Given the description of an element on the screen output the (x, y) to click on. 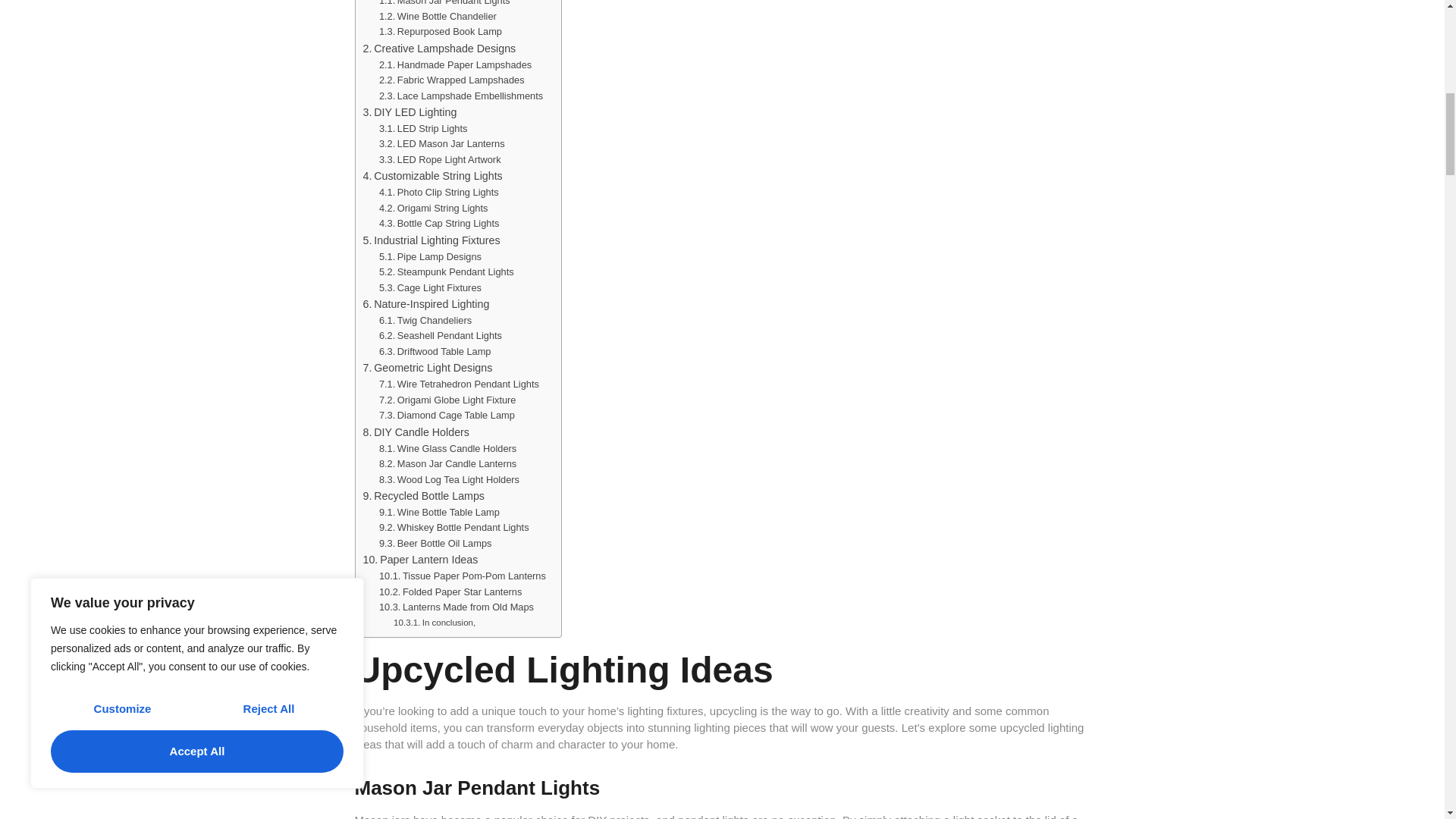
Handmade Paper Lampshades (454, 65)
Photo Clip String Lights (438, 192)
Fabric Wrapped Lampshades (451, 80)
Wine Bottle Chandelier (437, 17)
Repurposed Book Lamp (440, 32)
Lace Lampshade Embellishments (460, 96)
Creative Lampshade Designs (438, 48)
LED Strip Lights (422, 129)
Origami String Lights (432, 208)
DIY LED Lighting (409, 112)
